Given the description of an element on the screen output the (x, y) to click on. 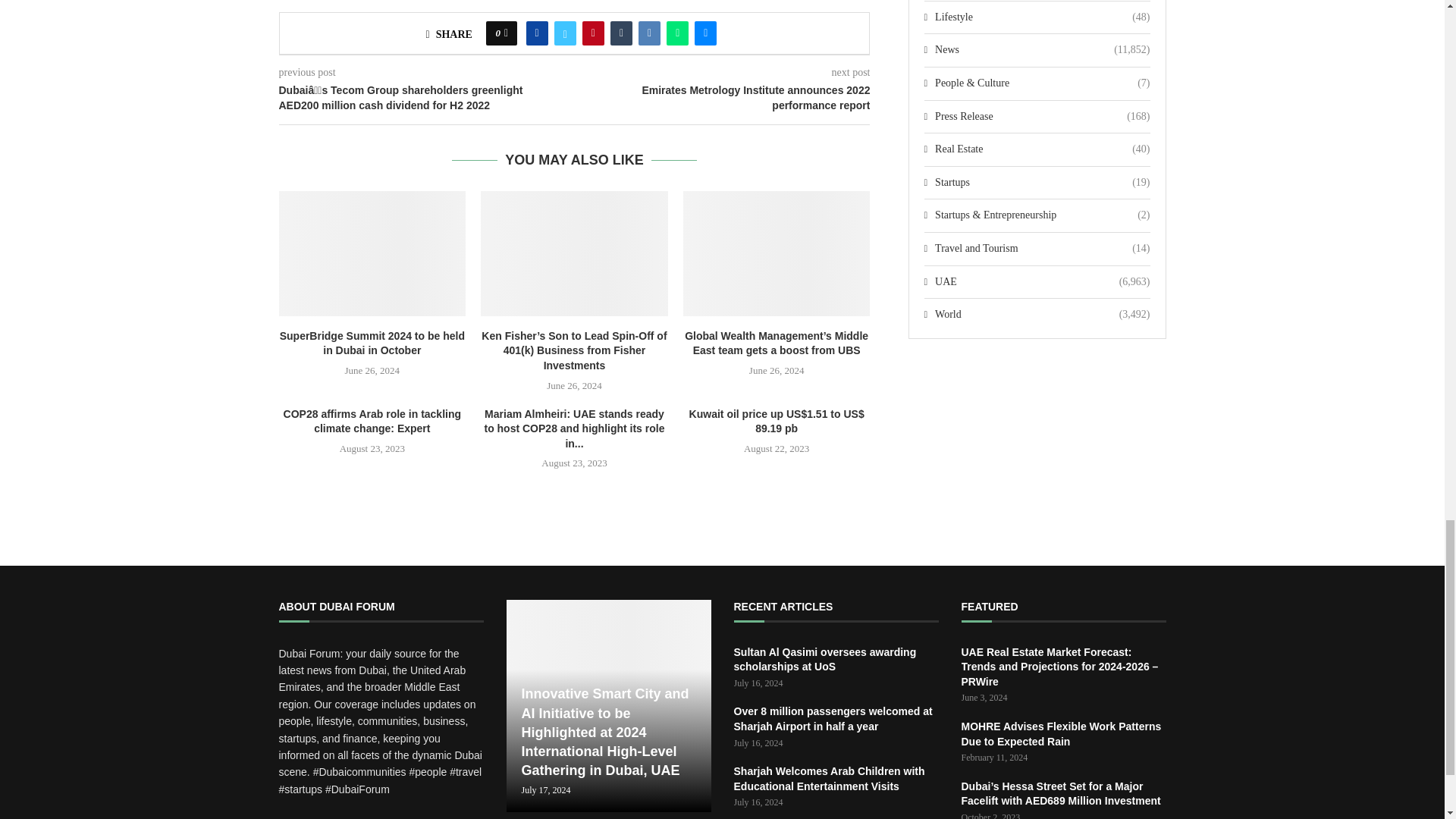
Like (505, 33)
SuperBridge Summit 2024 to be held in Dubai in October (372, 252)
